Given the description of an element on the screen output the (x, y) to click on. 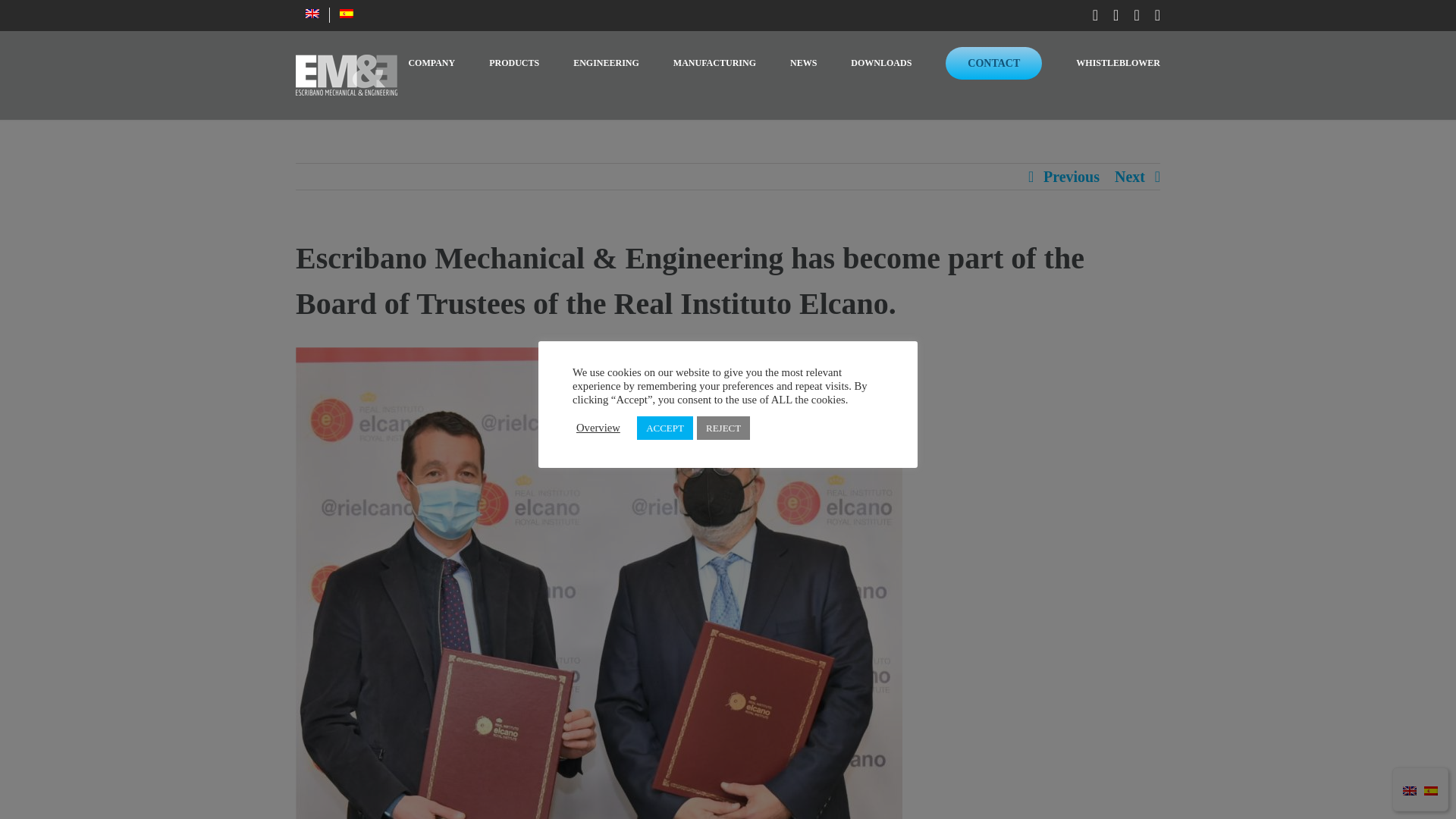
Facebook (1136, 14)
Twitter (1157, 14)
Instagram (1115, 14)
COMPANY (430, 63)
PRODUCTS (513, 63)
LinkedIn (1095, 14)
